Given the description of an element on the screen output the (x, y) to click on. 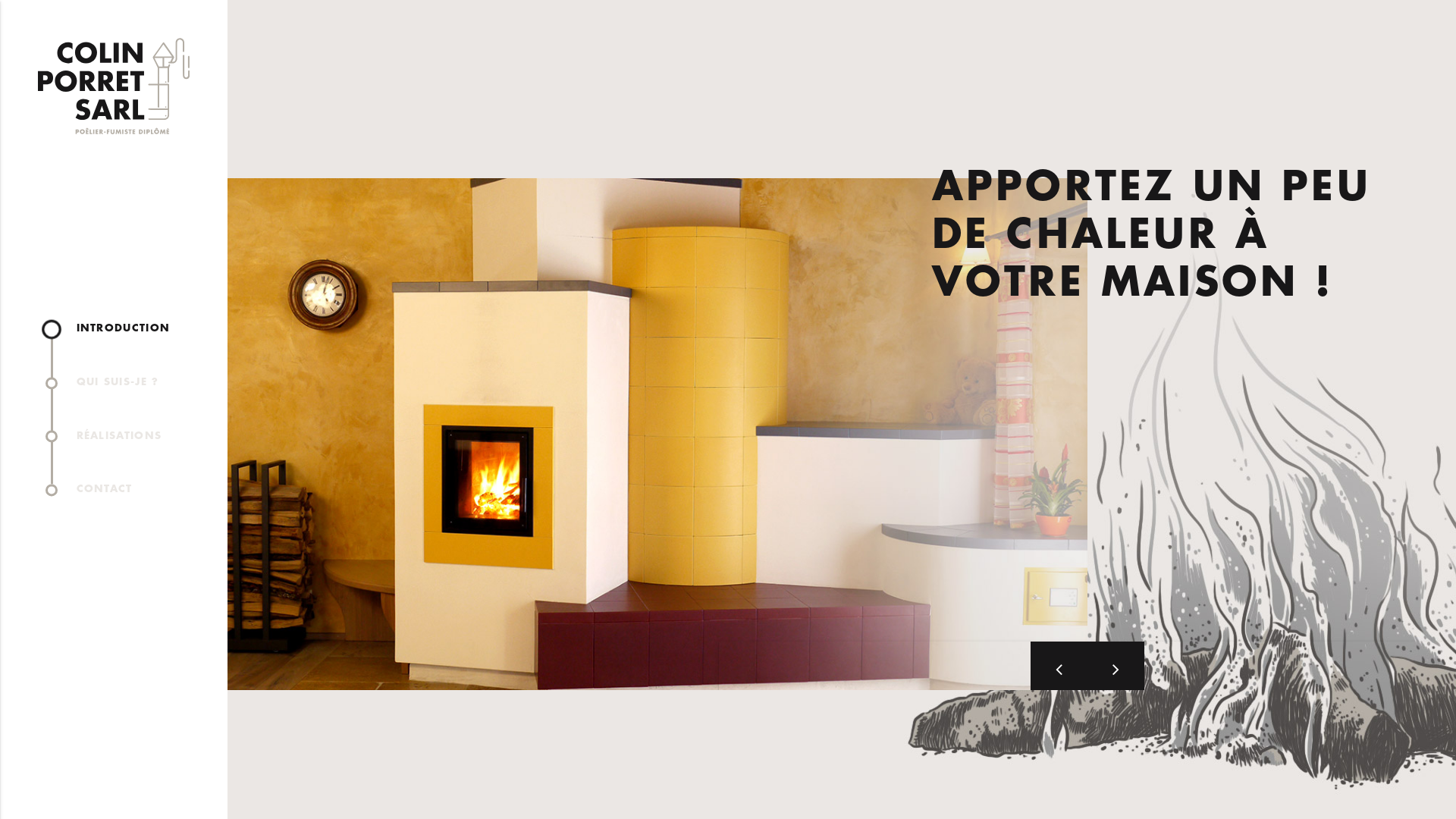
QUI SUIS-JE ? Element type: text (122, 382)
CONTACT Element type: text (122, 490)
INTRODUCTION Element type: text (122, 328)
